Given the description of an element on the screen output the (x, y) to click on. 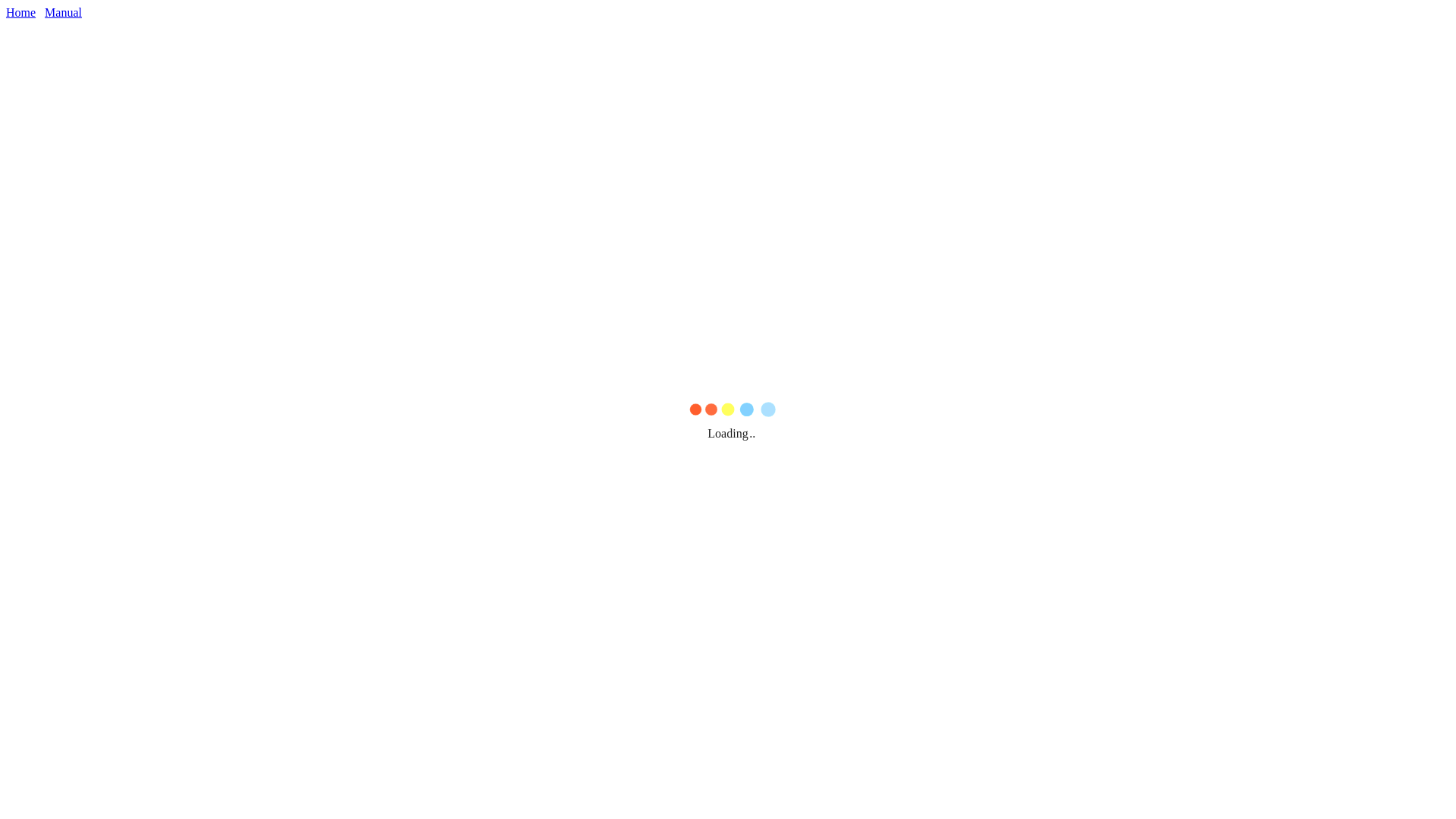
Home Element type: text (20, 12)
Manual Element type: text (62, 12)
